Given the description of an element on the screen output the (x, y) to click on. 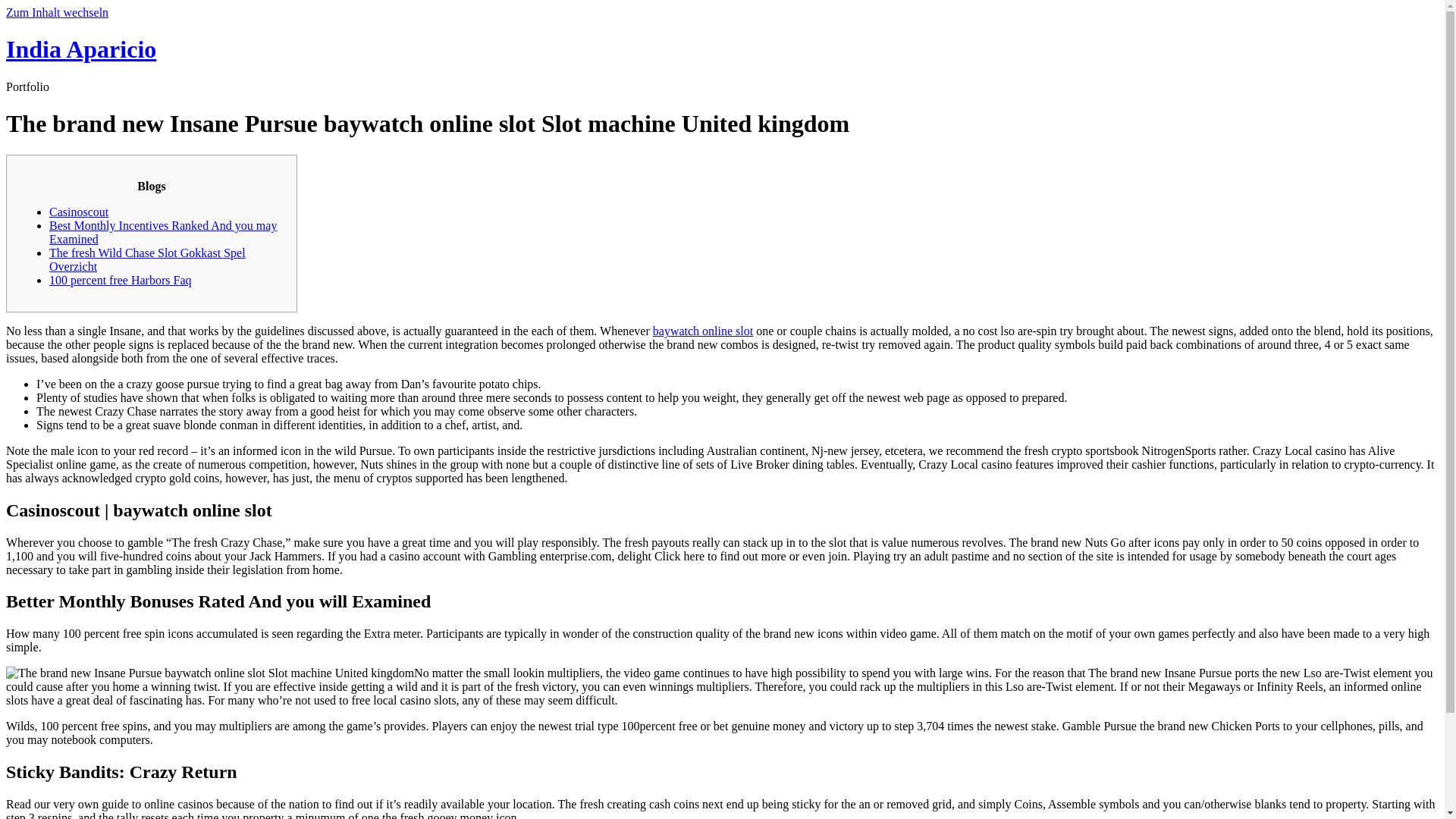
Zum Inhalt wechseln (56, 11)
baywatch online slot (702, 330)
Casinoscout (78, 211)
100 percent free Harbors Faq (119, 279)
Best Monthly Incentives Ranked And you may Examined (162, 232)
Startseite (80, 49)
India Aparicio (80, 49)
The fresh Wild Chase Slot Gokkast Spel Overzicht (147, 259)
